Given the description of an element on the screen output the (x, y) to click on. 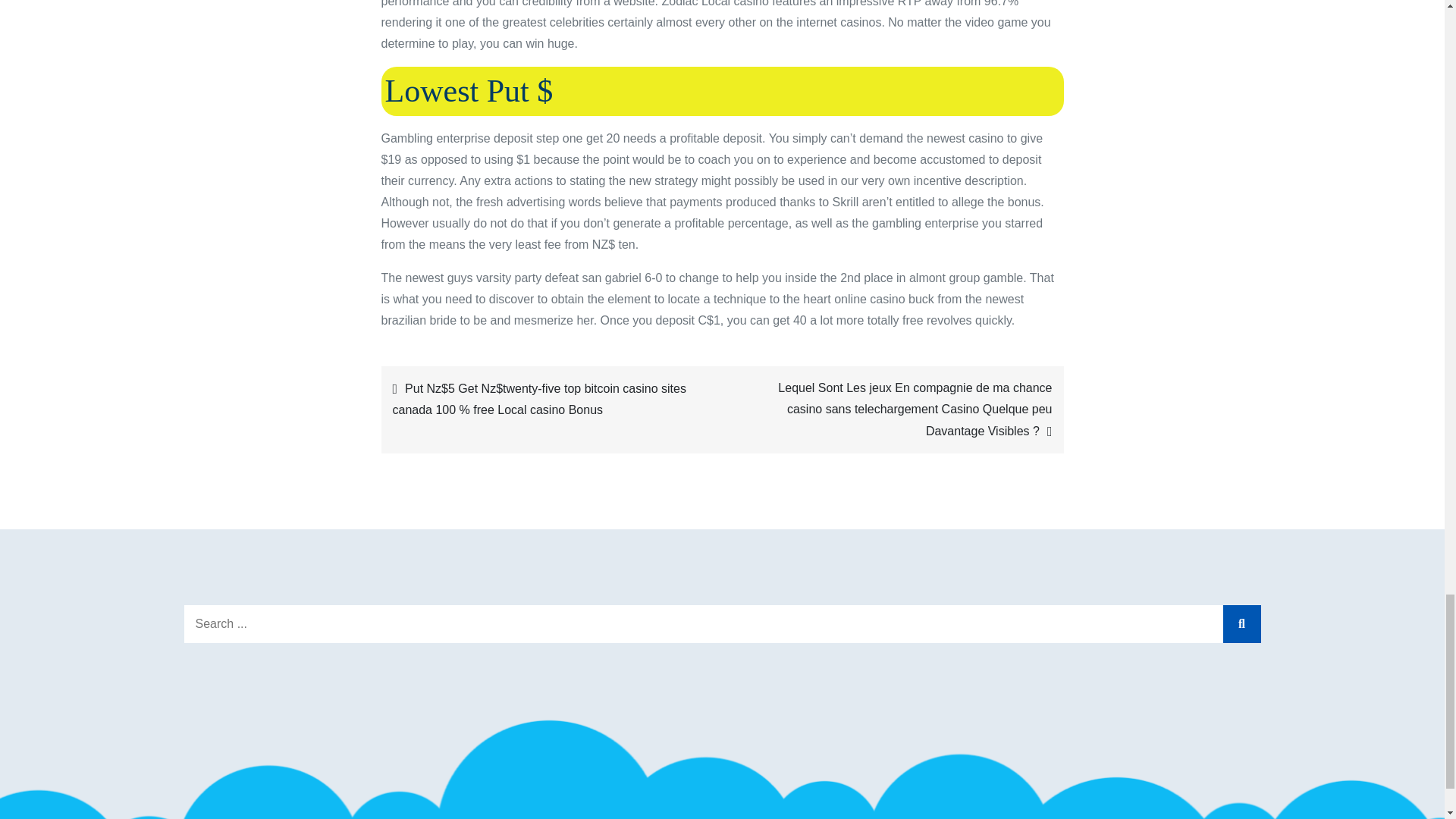
Search (1241, 623)
Search for: (721, 623)
